Given the description of an element on the screen output the (x, y) to click on. 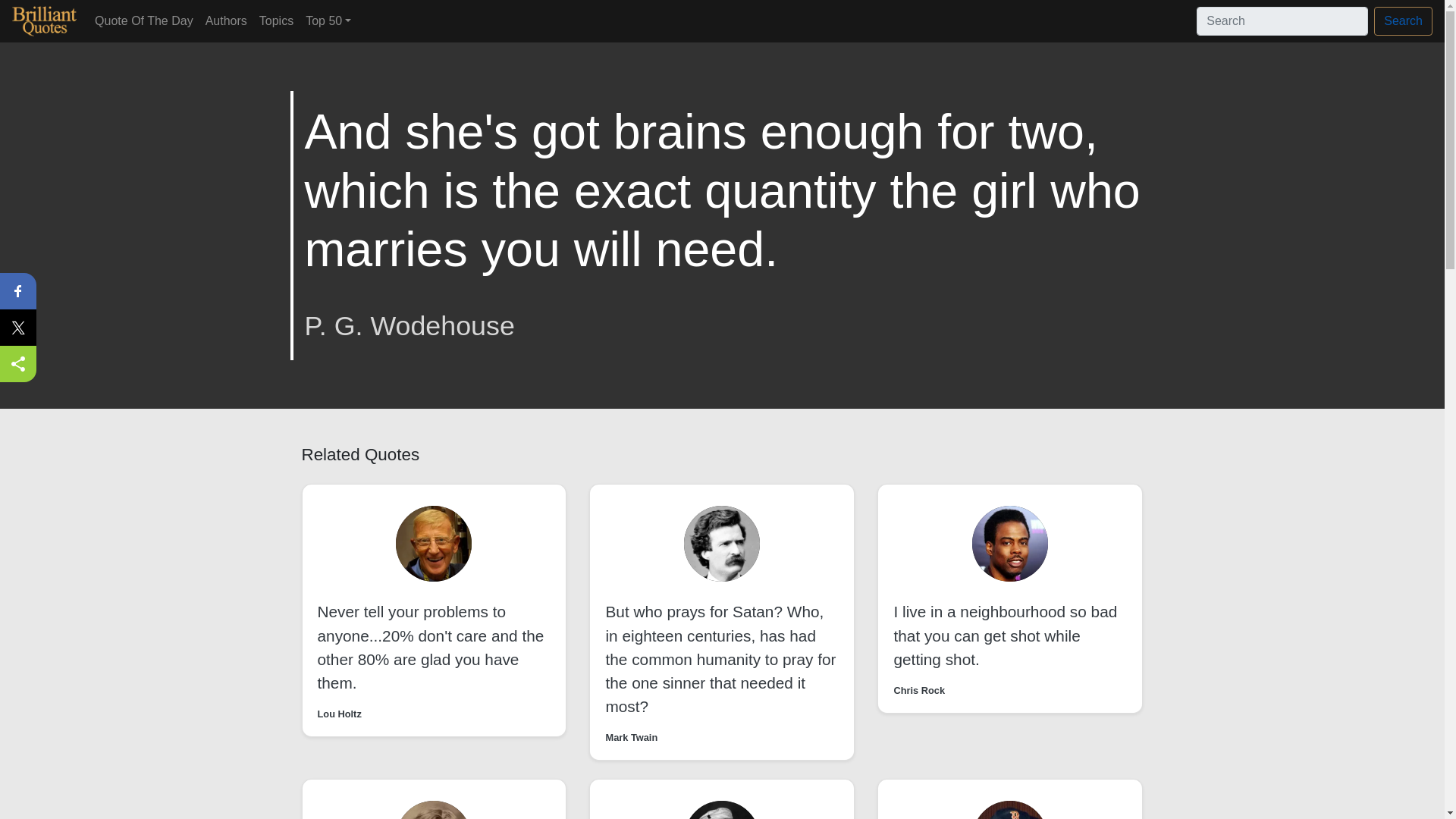
Search (1403, 21)
Quote Of The Day (143, 20)
Mark Twain (631, 737)
Chris Rock (918, 690)
Lou Holtz (339, 713)
Authors (226, 20)
Topics (276, 20)
Top 50 (327, 20)
